Given the description of an element on the screen output the (x, y) to click on. 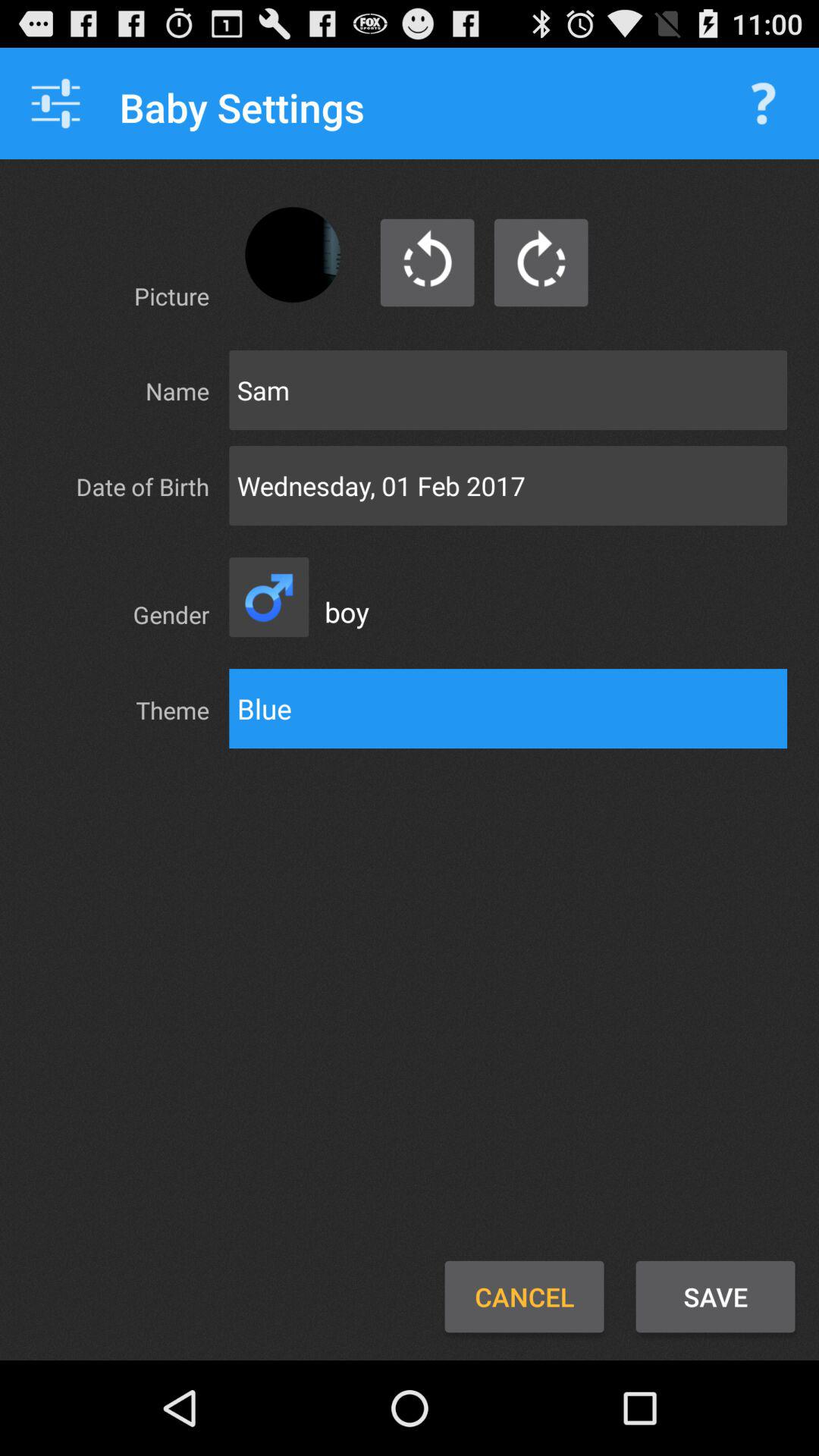
view last picture (427, 262)
